Given the description of an element on the screen output the (x, y) to click on. 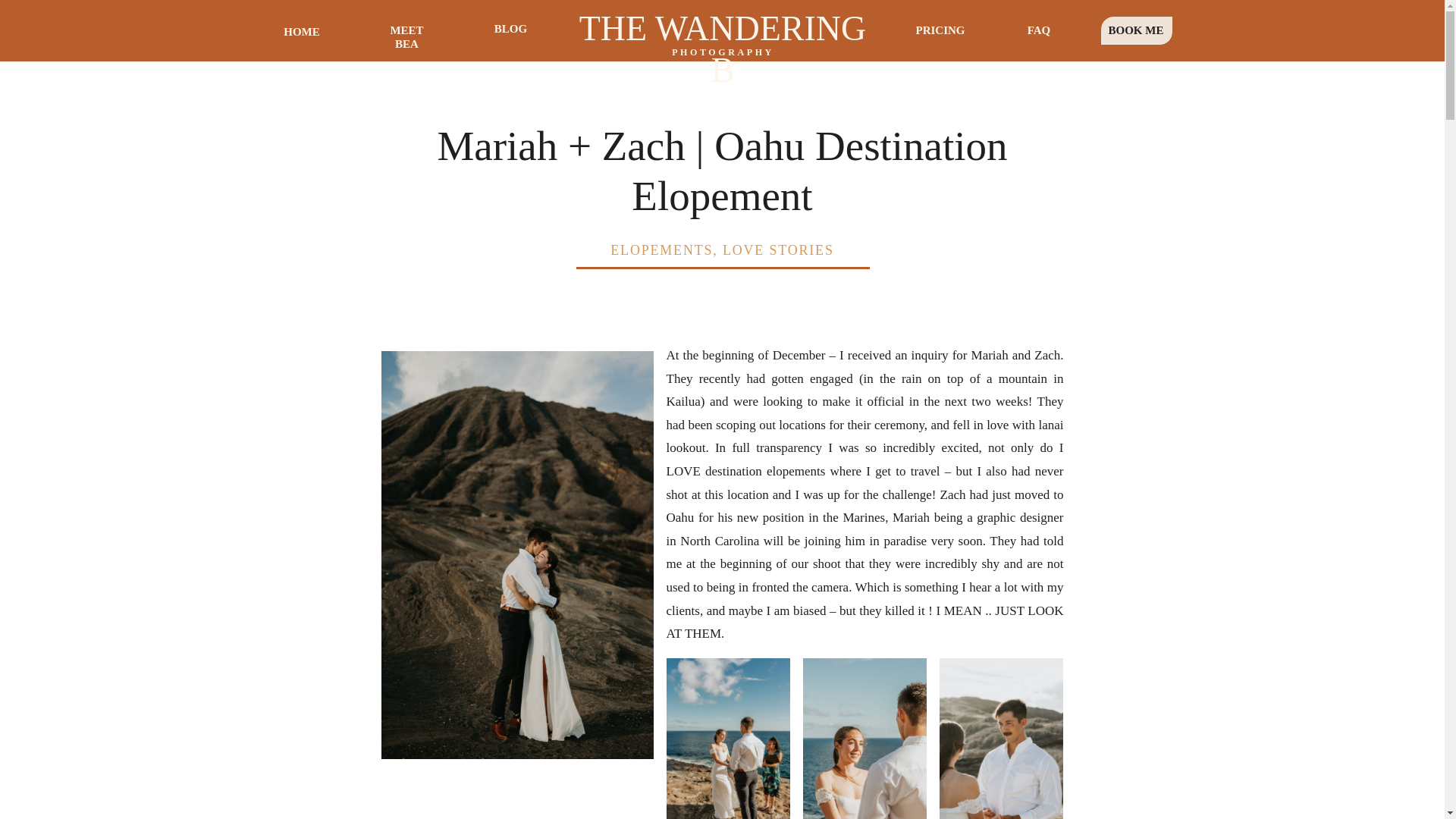
ELOPEMENTS (661, 249)
BOOK ME (1135, 30)
FAQ (1038, 30)
HOME (302, 30)
BLOG (510, 31)
MEET BEA (406, 31)
LOVE STORIES (778, 249)
PHOTOGRAPHY (722, 58)
PRICING (939, 30)
